Given the description of an element on the screen output the (x, y) to click on. 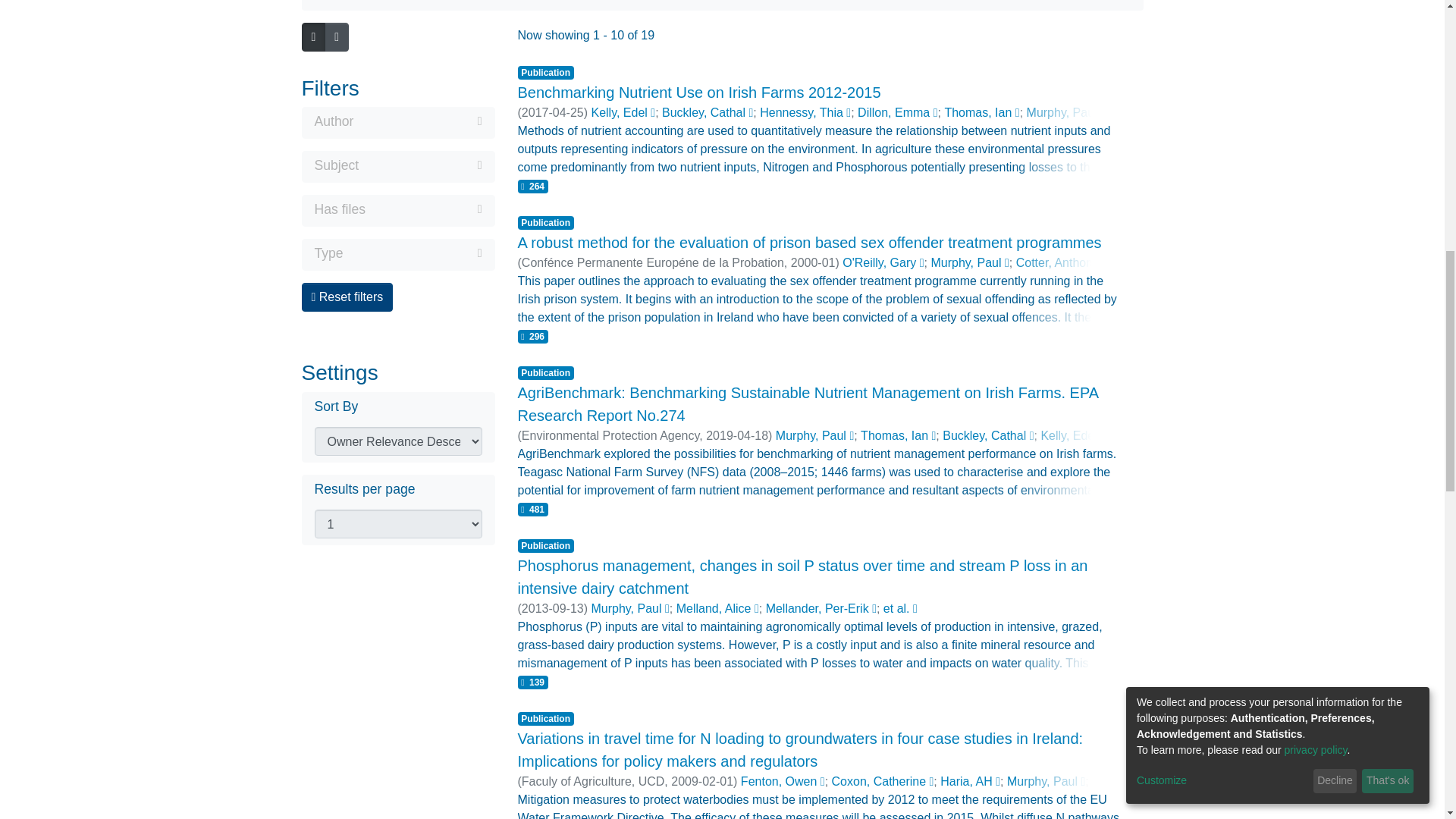
Author (397, 122)
Expand filter (419, 165)
Subject (397, 167)
Expand filter (417, 121)
Expand filter (423, 208)
Expand filter (412, 253)
